Given the description of an element on the screen output the (x, y) to click on. 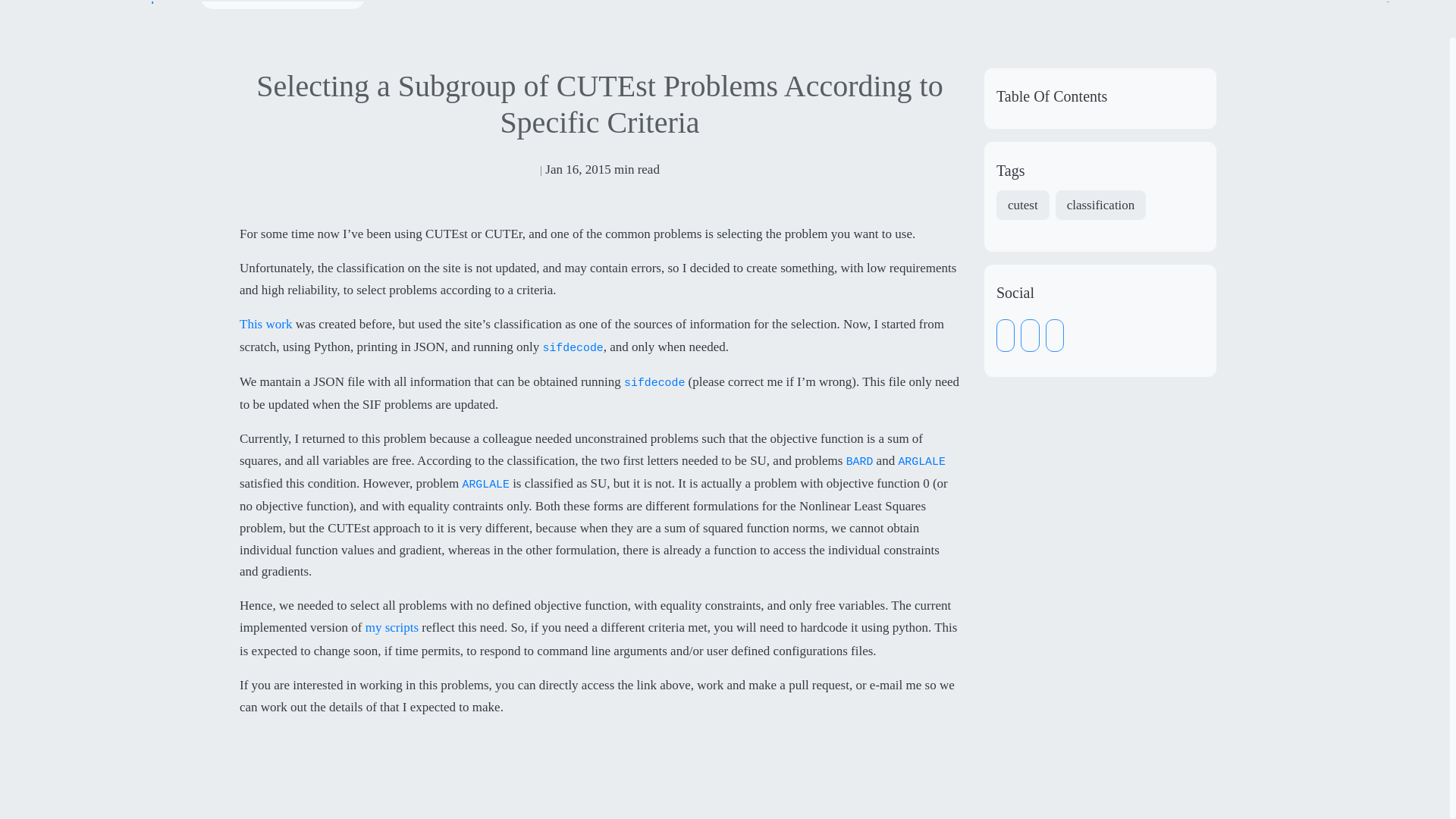
Curriculum (1335, 4)
cutest (1022, 205)
Curriculum (1335, 4)
Education (1120, 4)
This work (266, 325)
Contact (1236, 4)
Abel Soares Siqueira (116, 4)
Experience (1050, 4)
Blog (1281, 4)
About Me (982, 4)
